Given the description of an element on the screen output the (x, y) to click on. 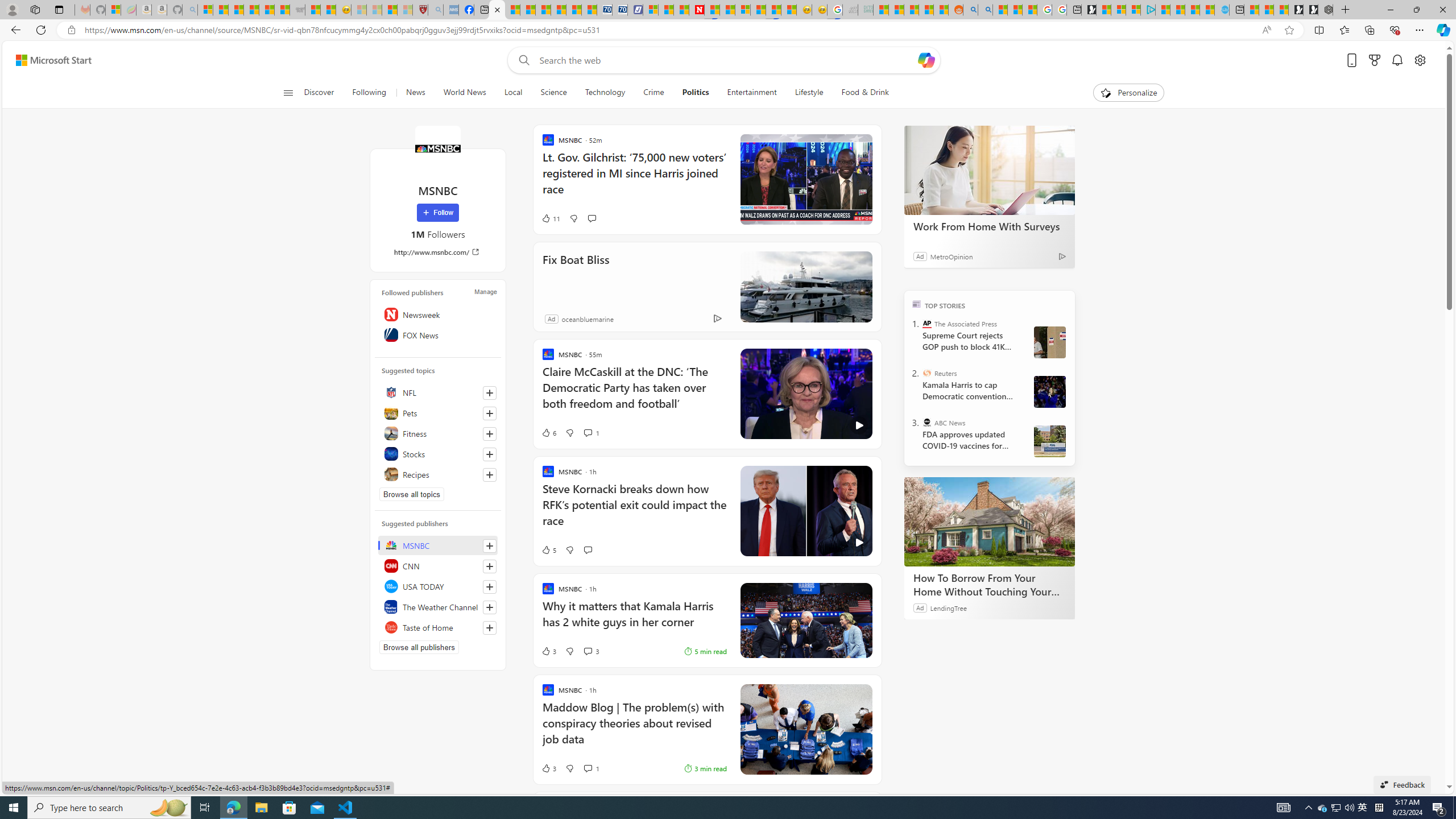
Start the conversation (587, 549)
 Harris and Walz campaign in Wisconsin (1049, 391)
The Weather Channel (437, 606)
Work From Home With Surveys (989, 169)
MetroOpinion (951, 256)
Microsoft-Report a Concern to Bing (112, 9)
USA TODAY (437, 586)
Work From Home With Surveys (988, 226)
Cheap Hotels - Save70.com (619, 9)
Open navigation menu (287, 92)
Open Copilot (926, 59)
